Given the description of an element on the screen output the (x, y) to click on. 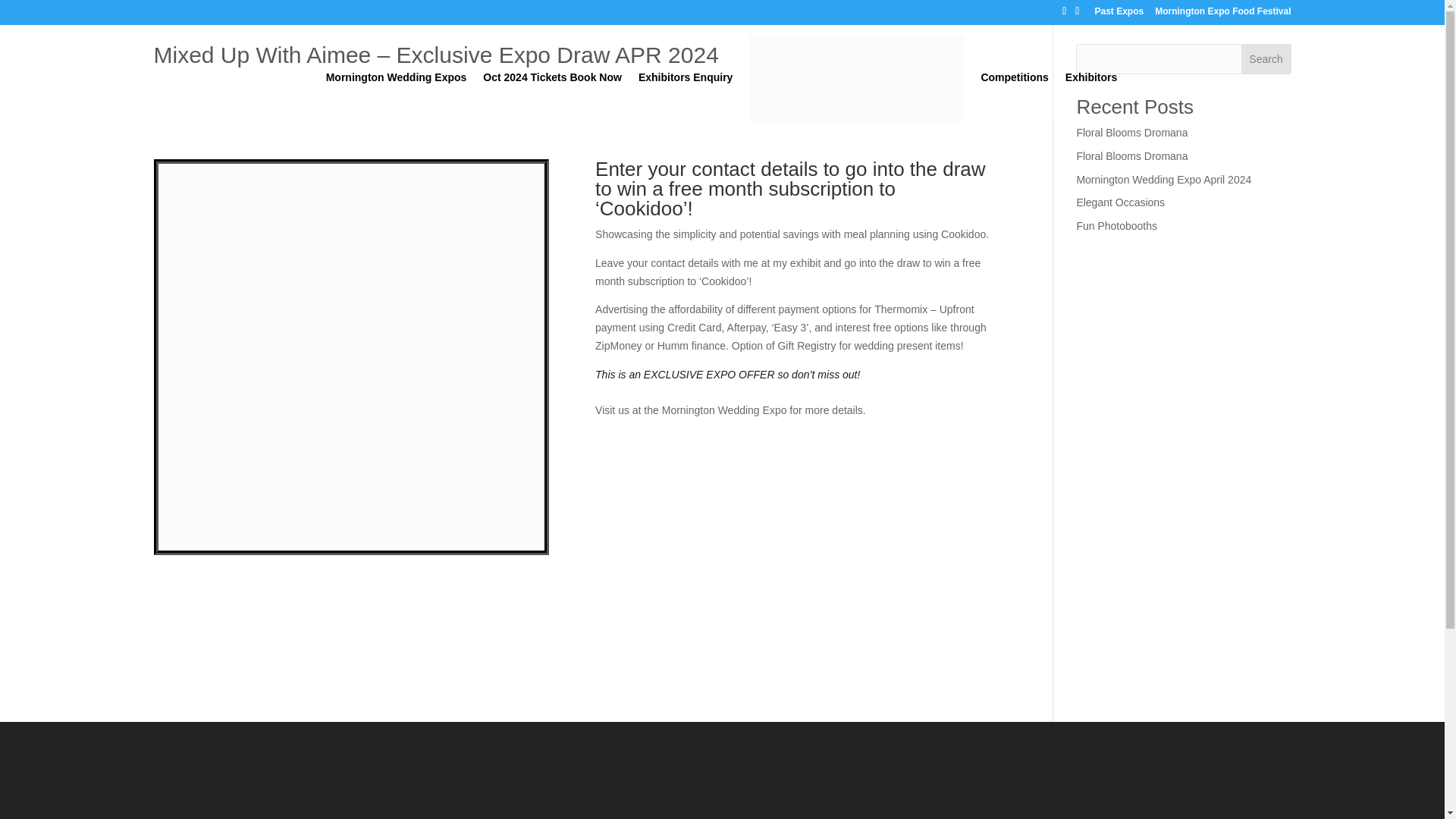
Mornington Wedding Expo April 2024 (1162, 179)
Elegant Occasions (1119, 202)
Oct 2024 Tickets Book Now (552, 96)
Fun Photobooths (1116, 225)
Exhibitors Enquiry (685, 96)
Search (1266, 59)
Mixed Up With Aimee - Exclusive Expo Draw (350, 550)
Floral Blooms Dromana (1131, 155)
Exhibitors (1090, 96)
